Given the description of an element on the screen output the (x, y) to click on. 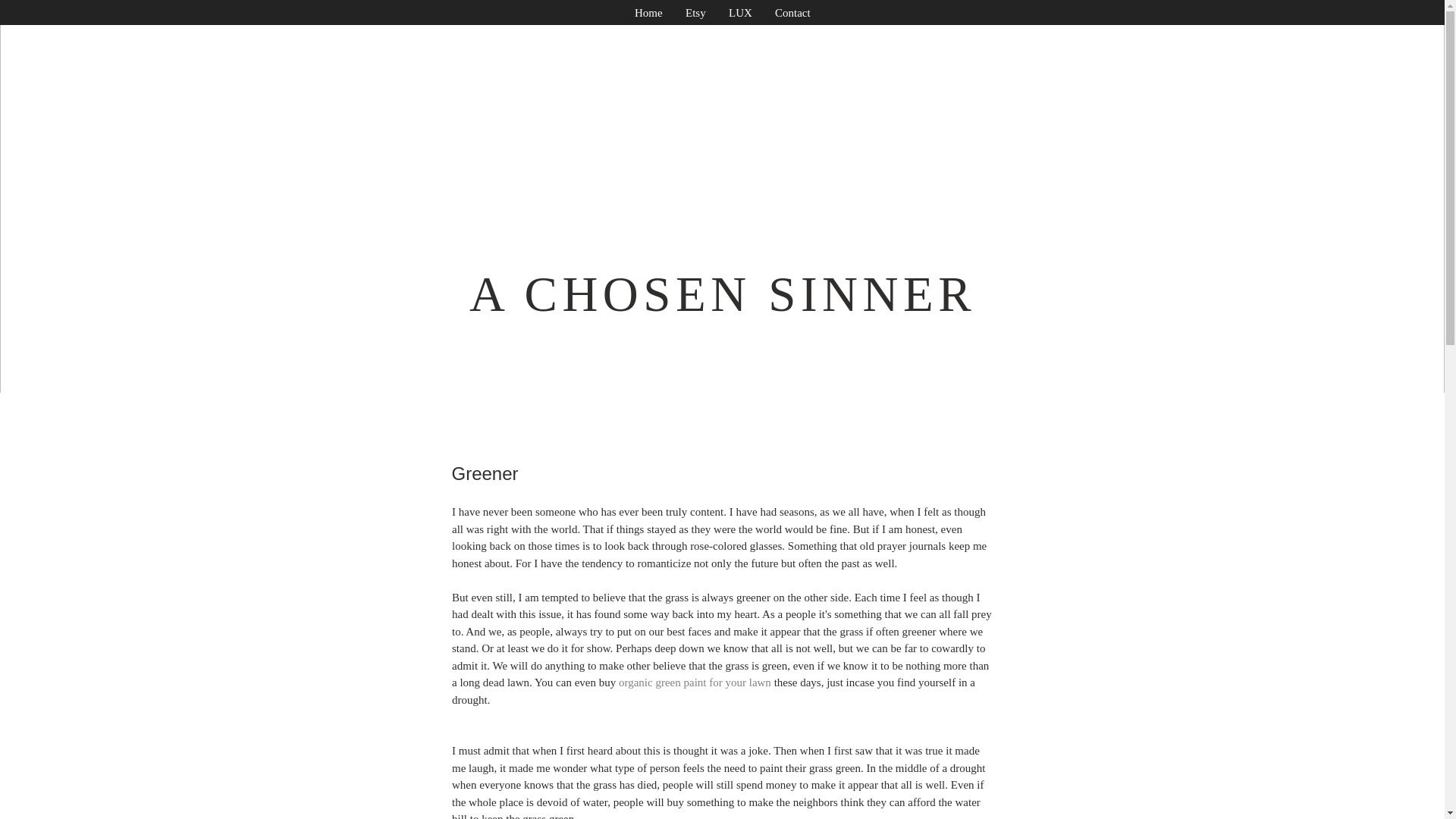
Contact (792, 13)
Home (648, 13)
LUX (739, 13)
organic green paint for your lawn (693, 682)
A CHOSEN SINNER (721, 293)
Etsy (695, 13)
